Given the description of an element on the screen output the (x, y) to click on. 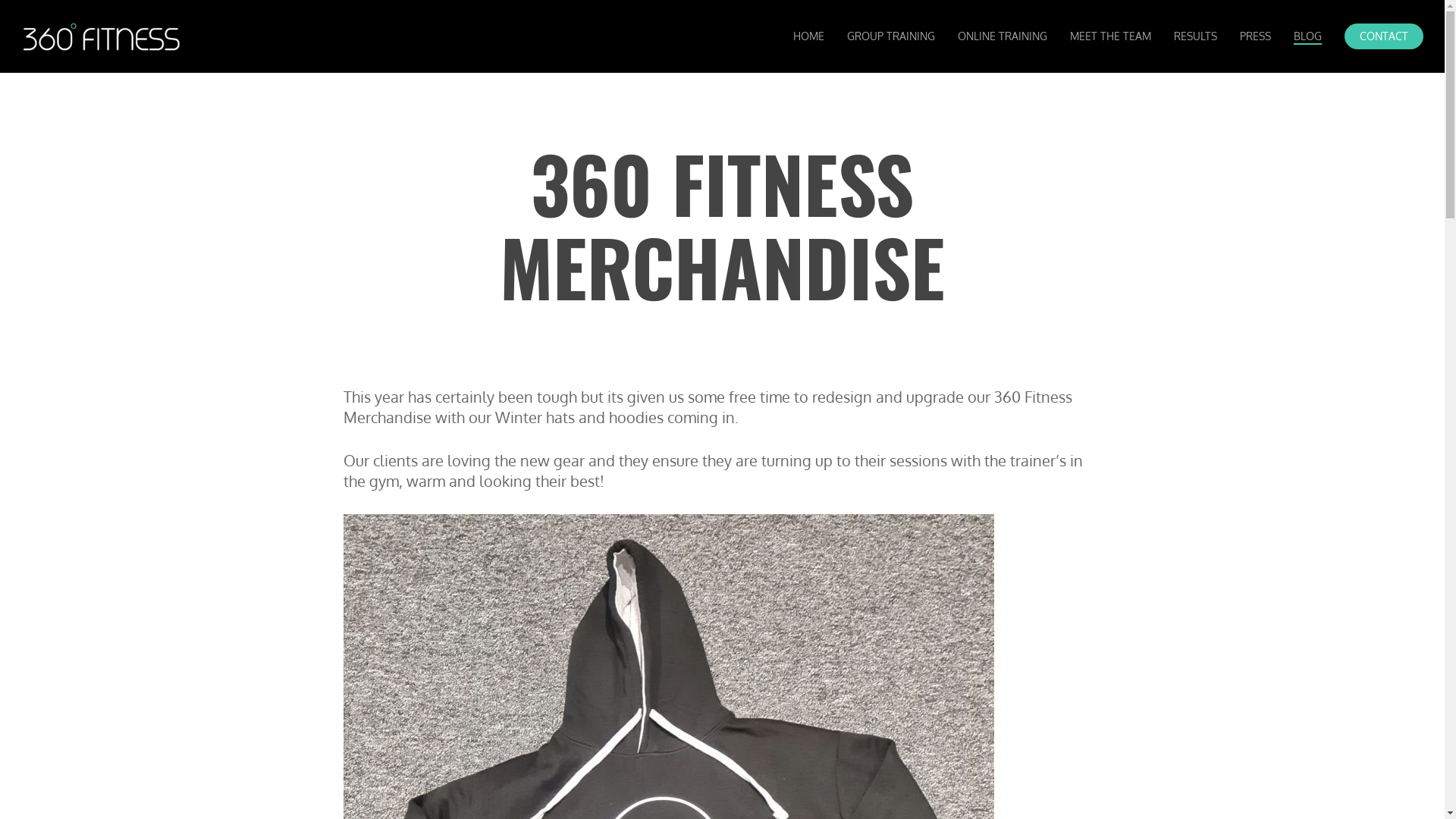
MEET THE TEAM Element type: text (1110, 35)
GROUP TRAINING Element type: text (891, 35)
CONTACT Element type: text (1383, 35)
PRESS Element type: text (1254, 35)
RESULTS Element type: text (1195, 35)
ONLINE TRAINING Element type: text (1002, 35)
HOME Element type: text (808, 35)
BLOG Element type: text (1307, 35)
